Given the description of an element on the screen output the (x, y) to click on. 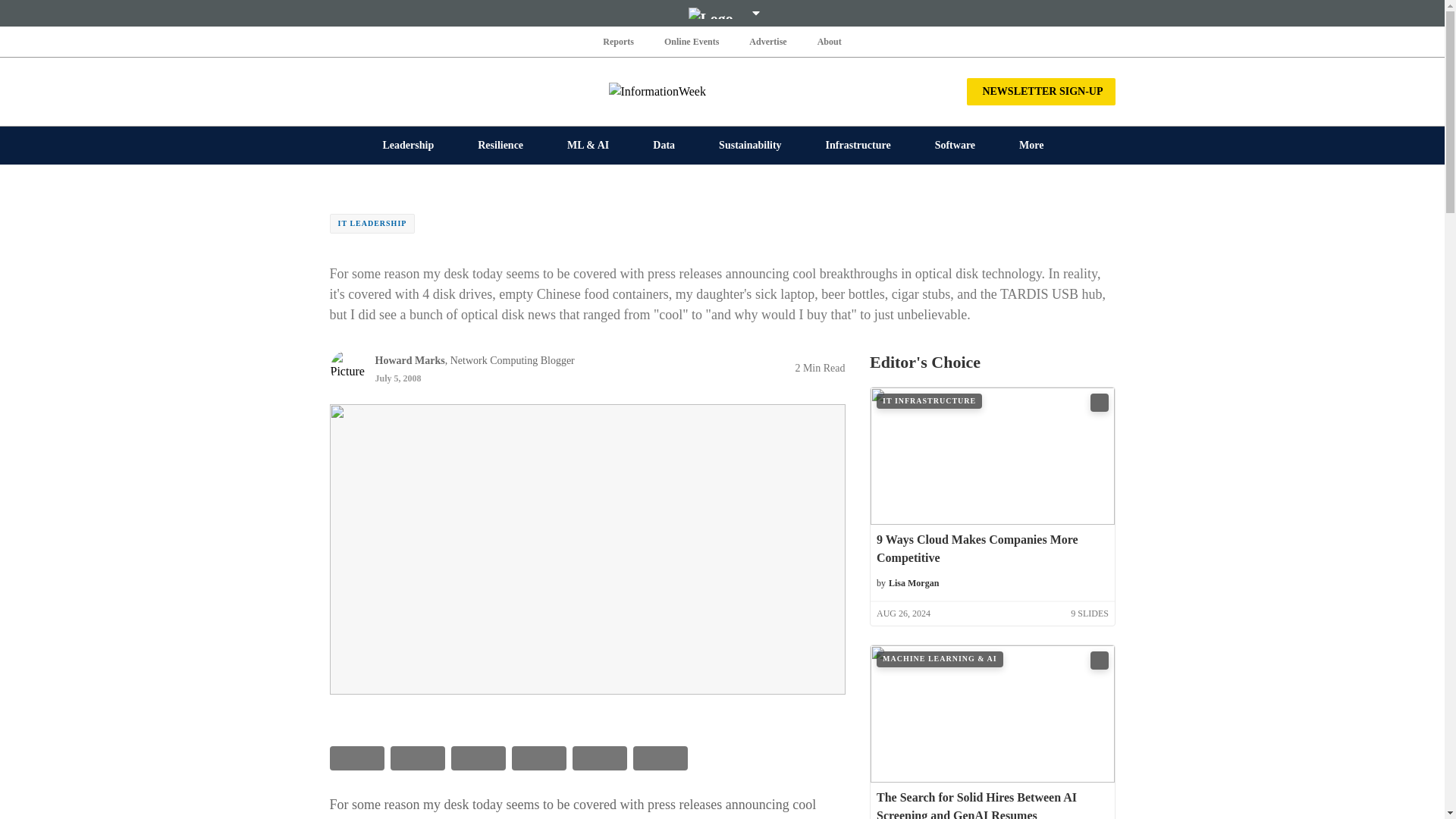
NEWSLETTER SIGN-UP (1040, 90)
About (828, 41)
Advertise (767, 41)
Reports (618, 41)
Picture of Howard Marks (347, 367)
InformationWeek (721, 91)
Online Events (691, 41)
